Given the description of an element on the screen output the (x, y) to click on. 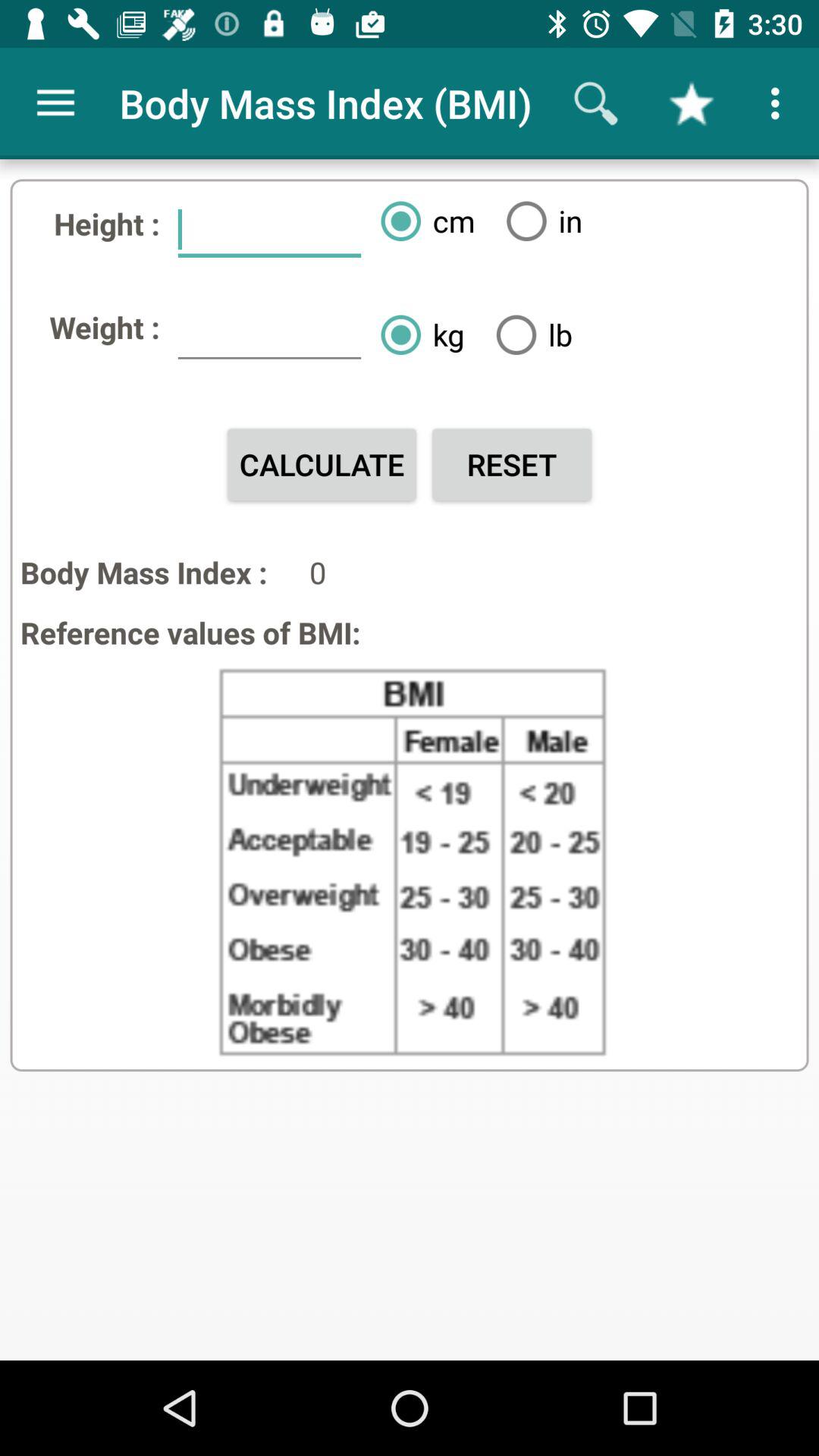
turn on the lb item (528, 334)
